Given the description of an element on the screen output the (x, y) to click on. 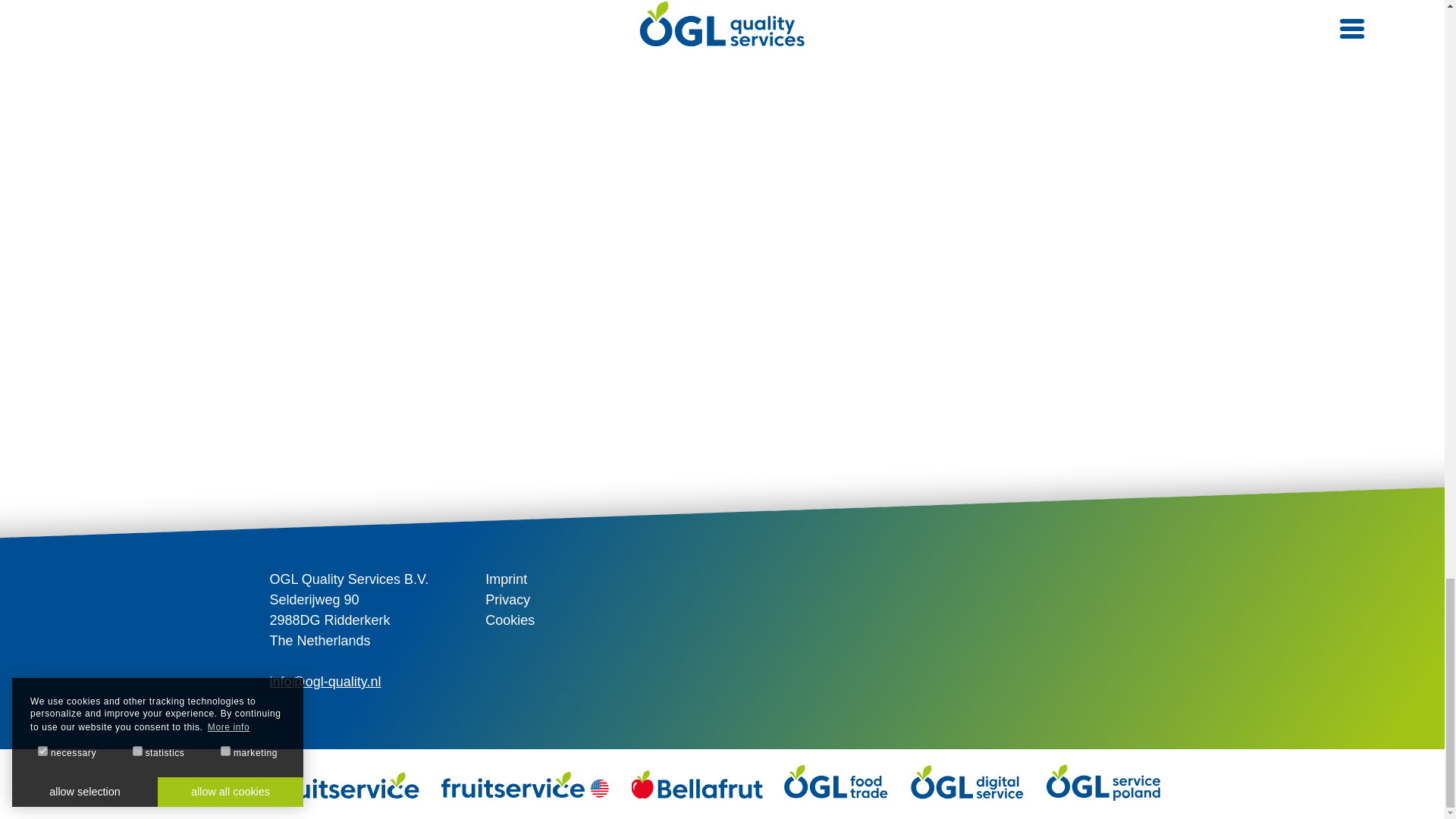
Privacy (506, 599)
Imprint (505, 579)
Cookies (509, 620)
